Given the description of an element on the screen output the (x, y) to click on. 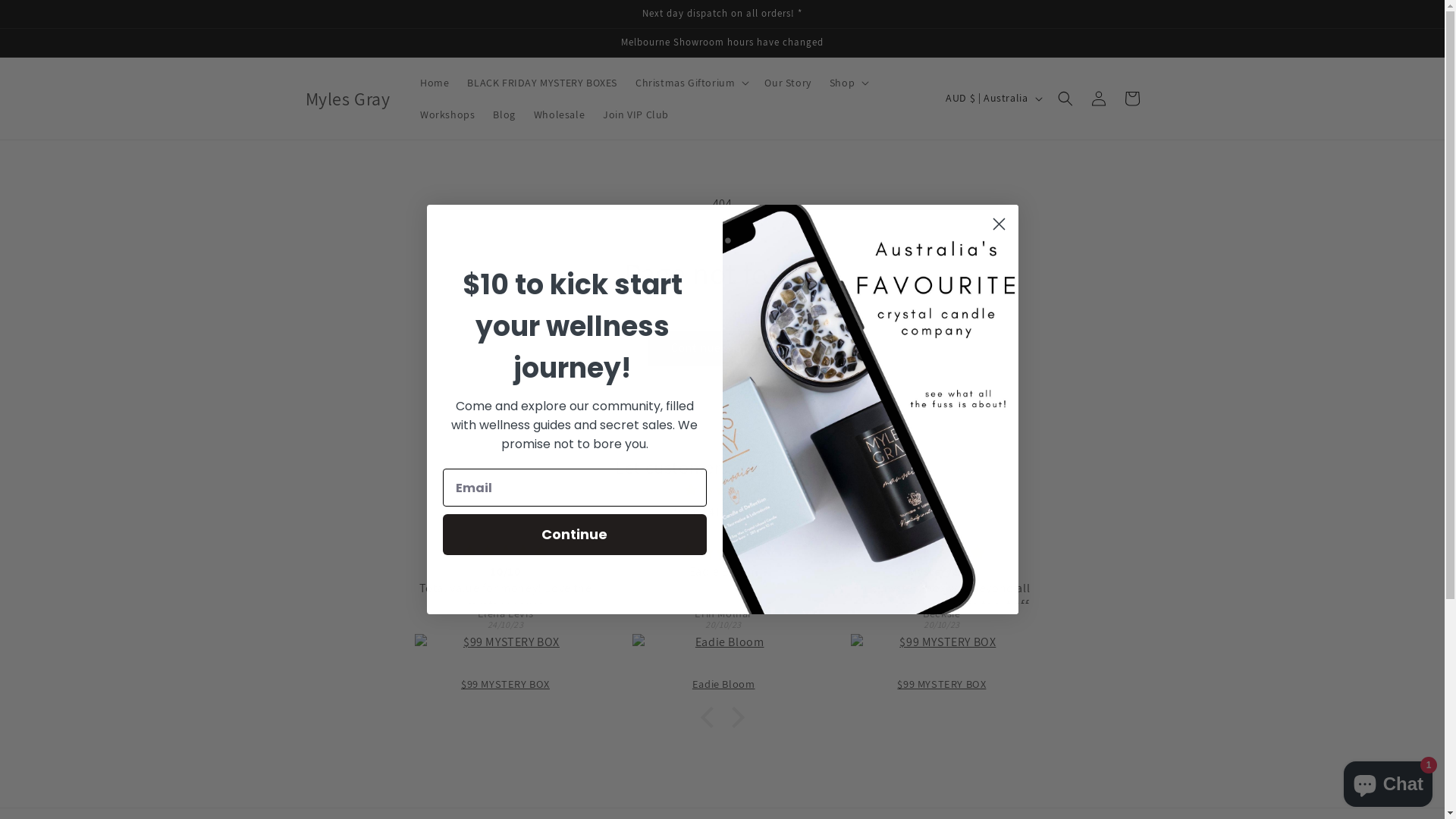
Blog Element type: text (503, 114)
Close dialog 1 Element type: text (998, 223)
Join VIP Club Element type: text (635, 114)
Shopify online store chat Element type: hover (1388, 780)
Submit Element type: text (21, 7)
Eadie Bloom Element type: text (941, 654)
Cart Element type: text (1131, 98)
Workshops Element type: text (447, 114)
Myles Gray Element type: text (347, 97)
$99 MYSTERY BOX Element type: text (723, 654)
Continue shopping Element type: text (722, 348)
Home Element type: text (434, 82)
AUD $ | Australia Element type: text (992, 98)
Log in Element type: text (1097, 98)
Wholesale Element type: text (558, 114)
$99 MYSTERY BOX Element type: text (505, 654)
Continue Element type: text (574, 534)
BLACK FRIDAY MYSTERY BOXES Element type: text (542, 82)
Our Story Element type: text (787, 82)
